Given the description of an element on the screen output the (x, y) to click on. 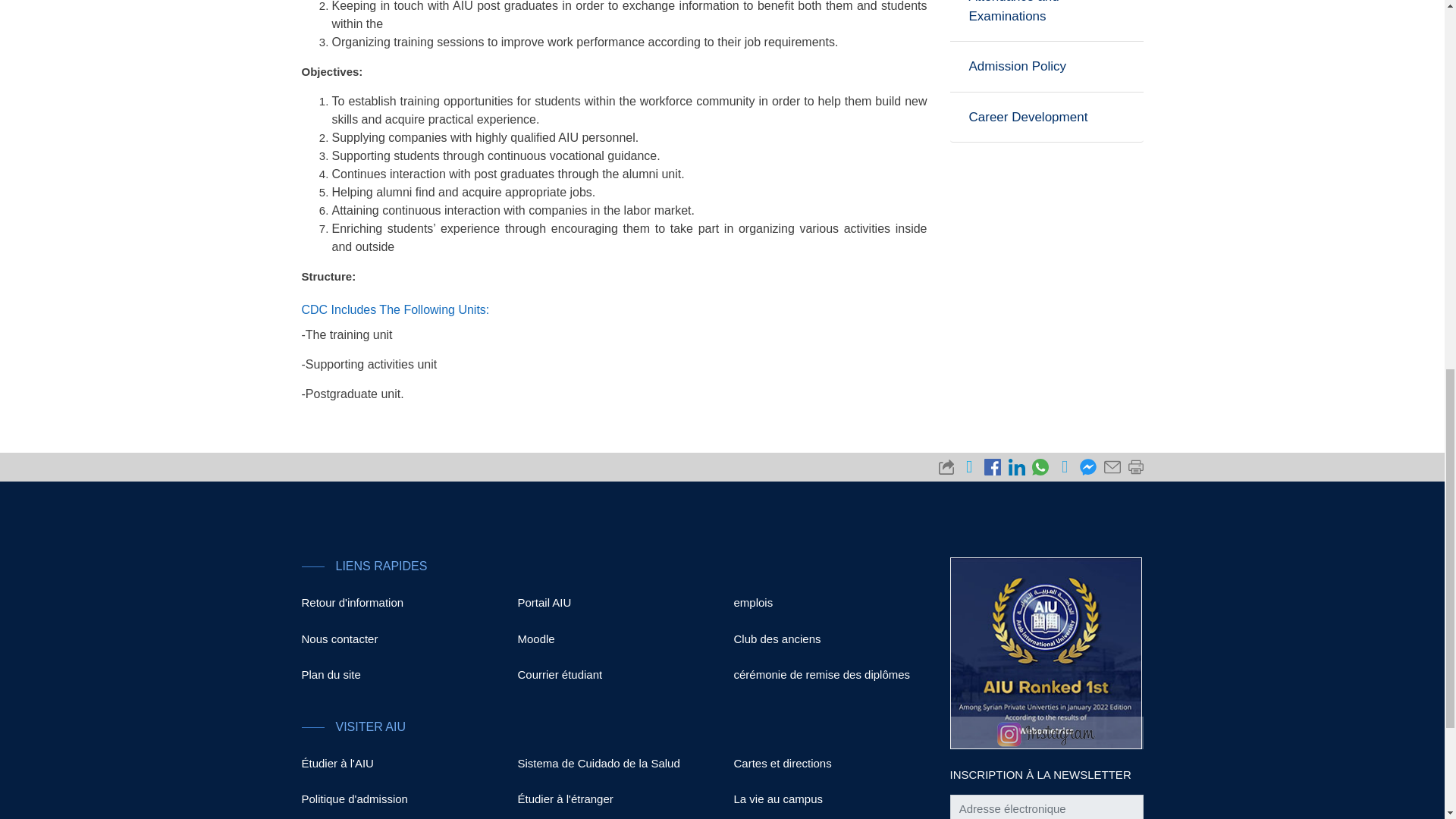
Print (1133, 463)
